Given the description of an element on the screen output the (x, y) to click on. 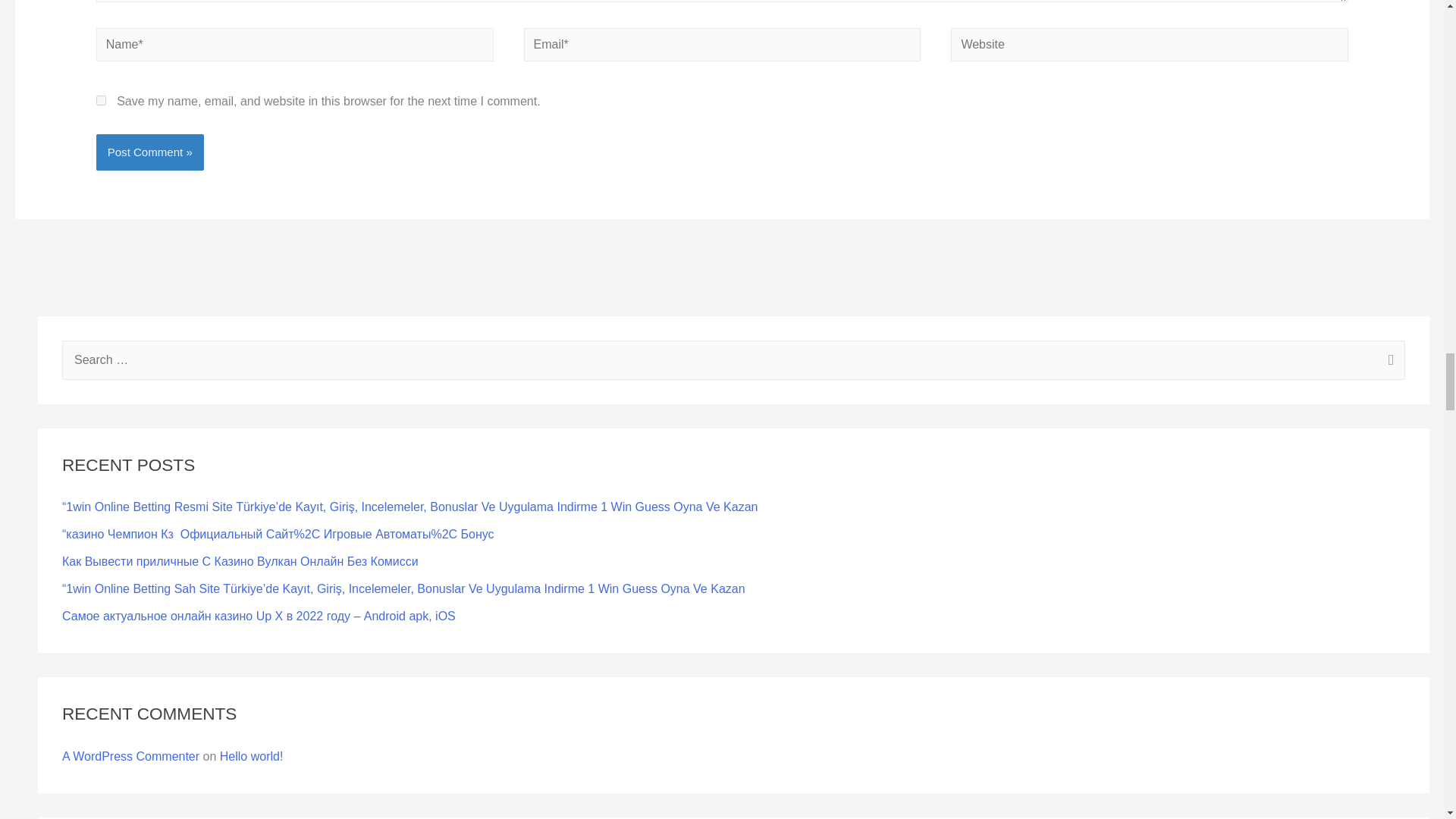
A WordPress Commenter (130, 756)
Hello world! (251, 756)
yes (101, 100)
